Given the description of an element on the screen output the (x, y) to click on. 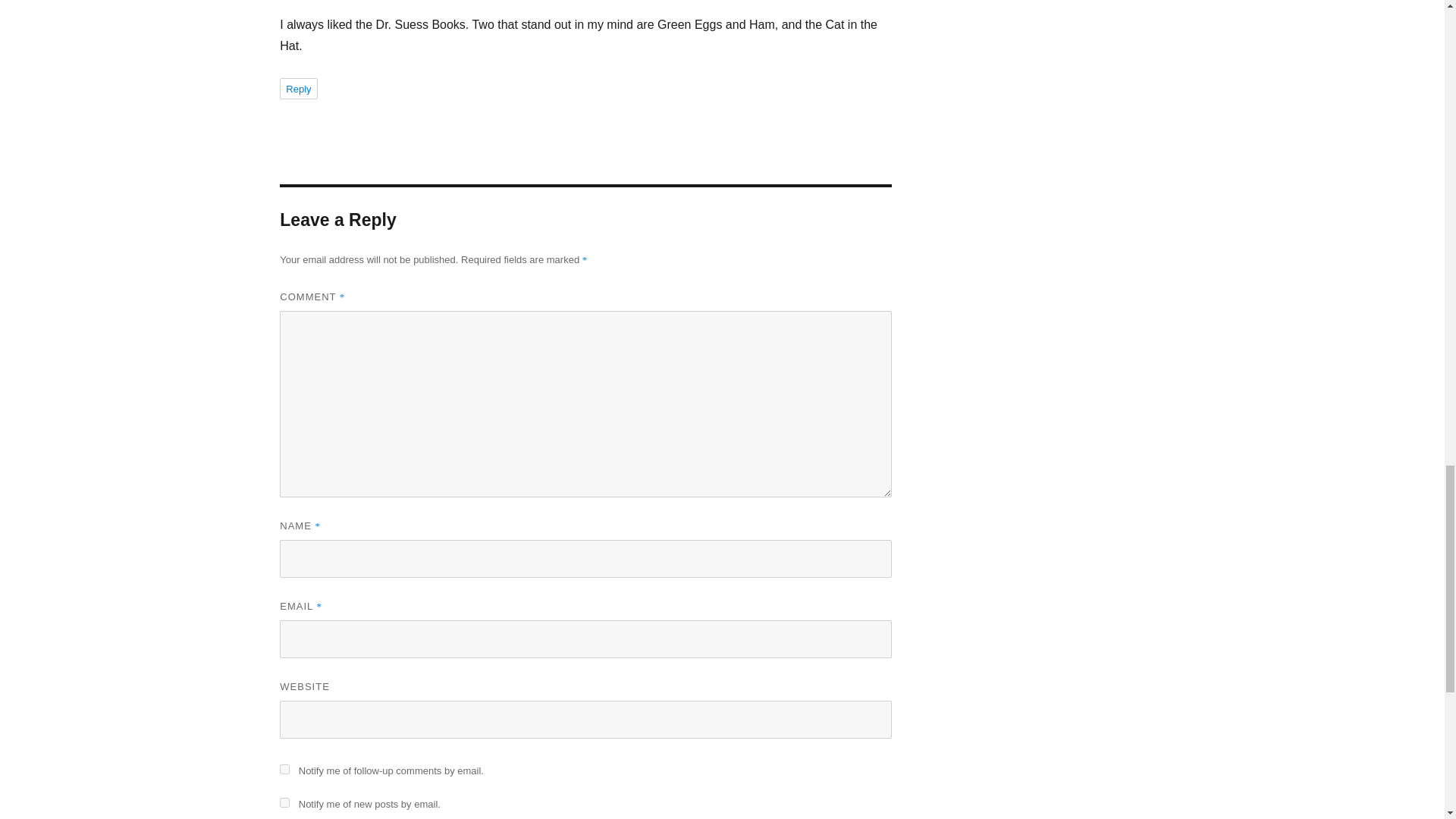
subscribe (284, 802)
subscribe (284, 768)
Reply (298, 88)
